Given the description of an element on the screen output the (x, y) to click on. 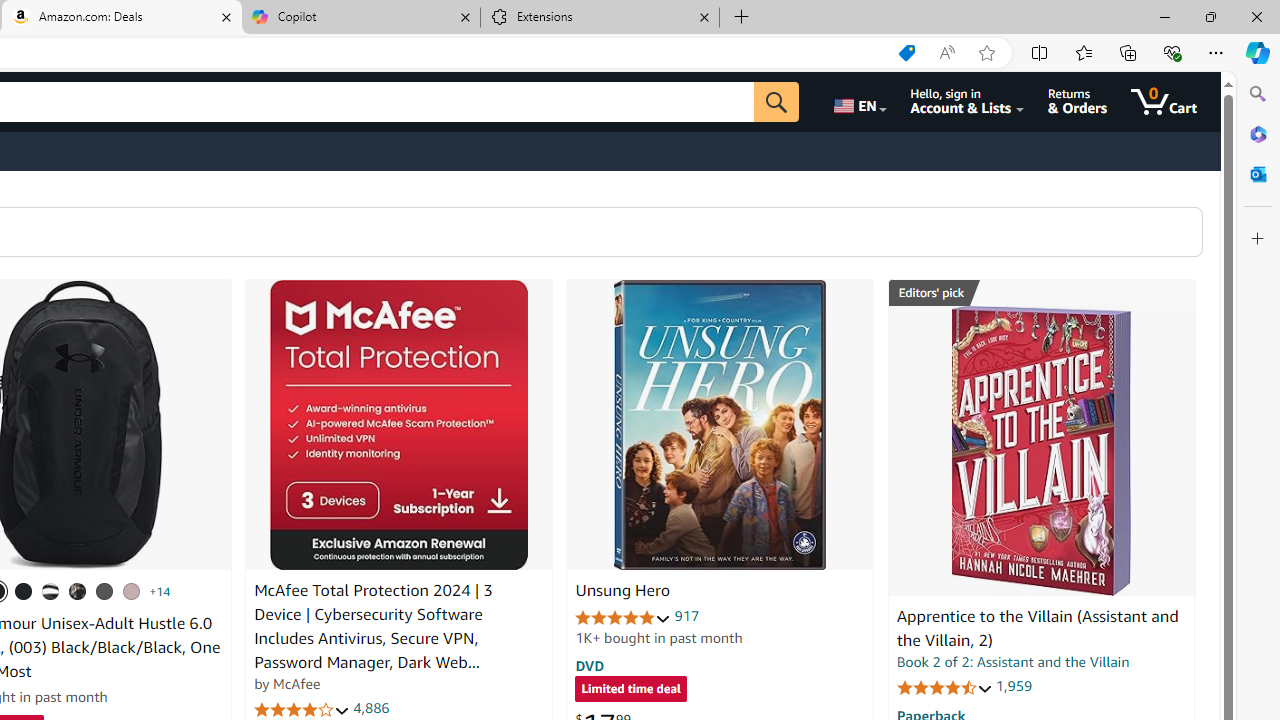
1,959 (1013, 686)
Apprentice to the Villain (Assistant and the Villain, 2) (1041, 451)
(004) Black / Black / Metallic Gold (78, 591)
+14 (159, 591)
(001) Black / Black / Metallic Gold (24, 591)
4.6 out of 5 stars (944, 686)
Unsung Hero (622, 591)
Choose a language for shopping. (858, 101)
Editors' pick Best Science Fiction & Fantasy (1041, 293)
(002) Black / Black / White (51, 591)
